Given the description of an element on the screen output the (x, y) to click on. 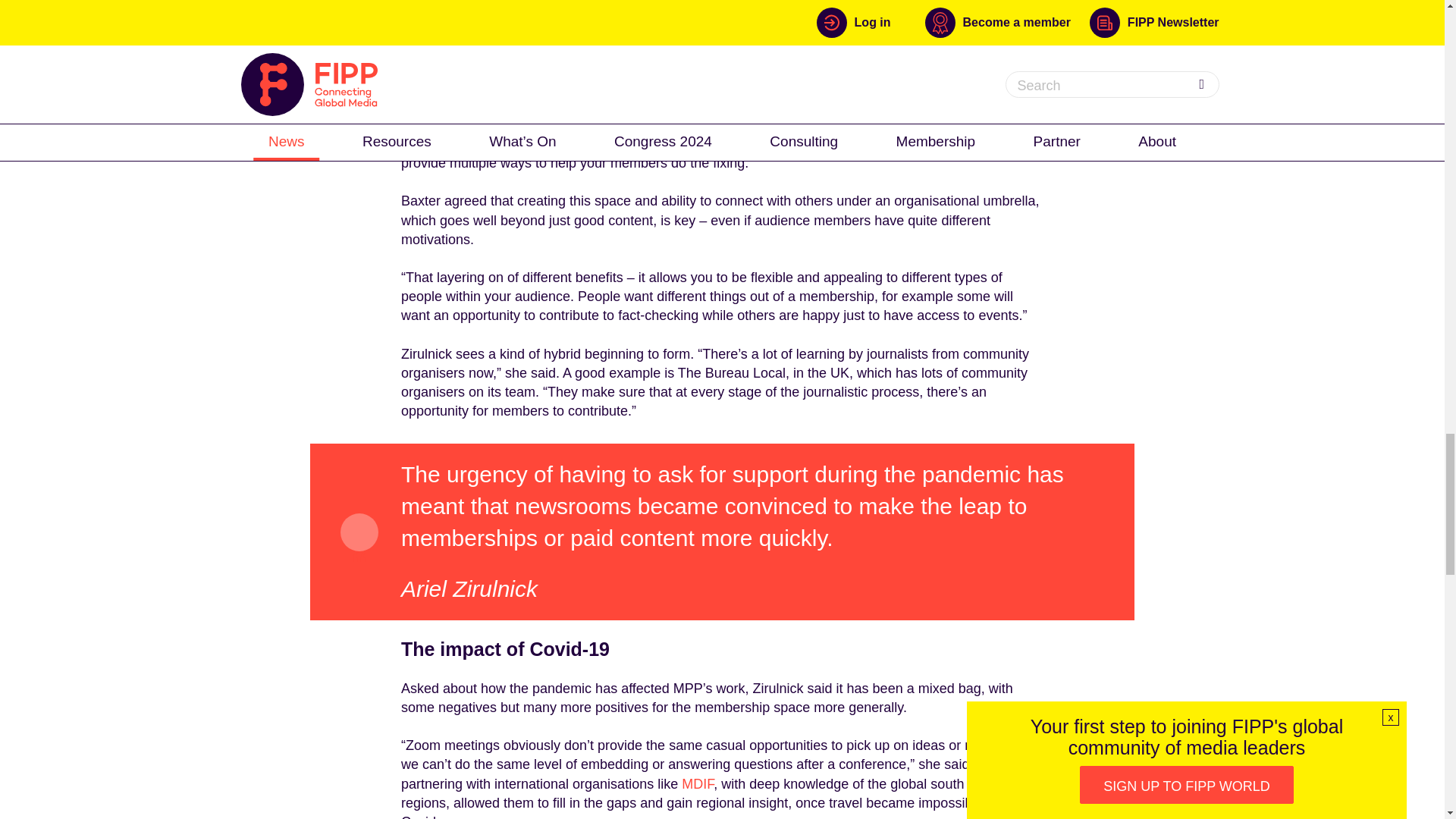
MDIF (697, 783)
